Given the description of an element on the screen output the (x, y) to click on. 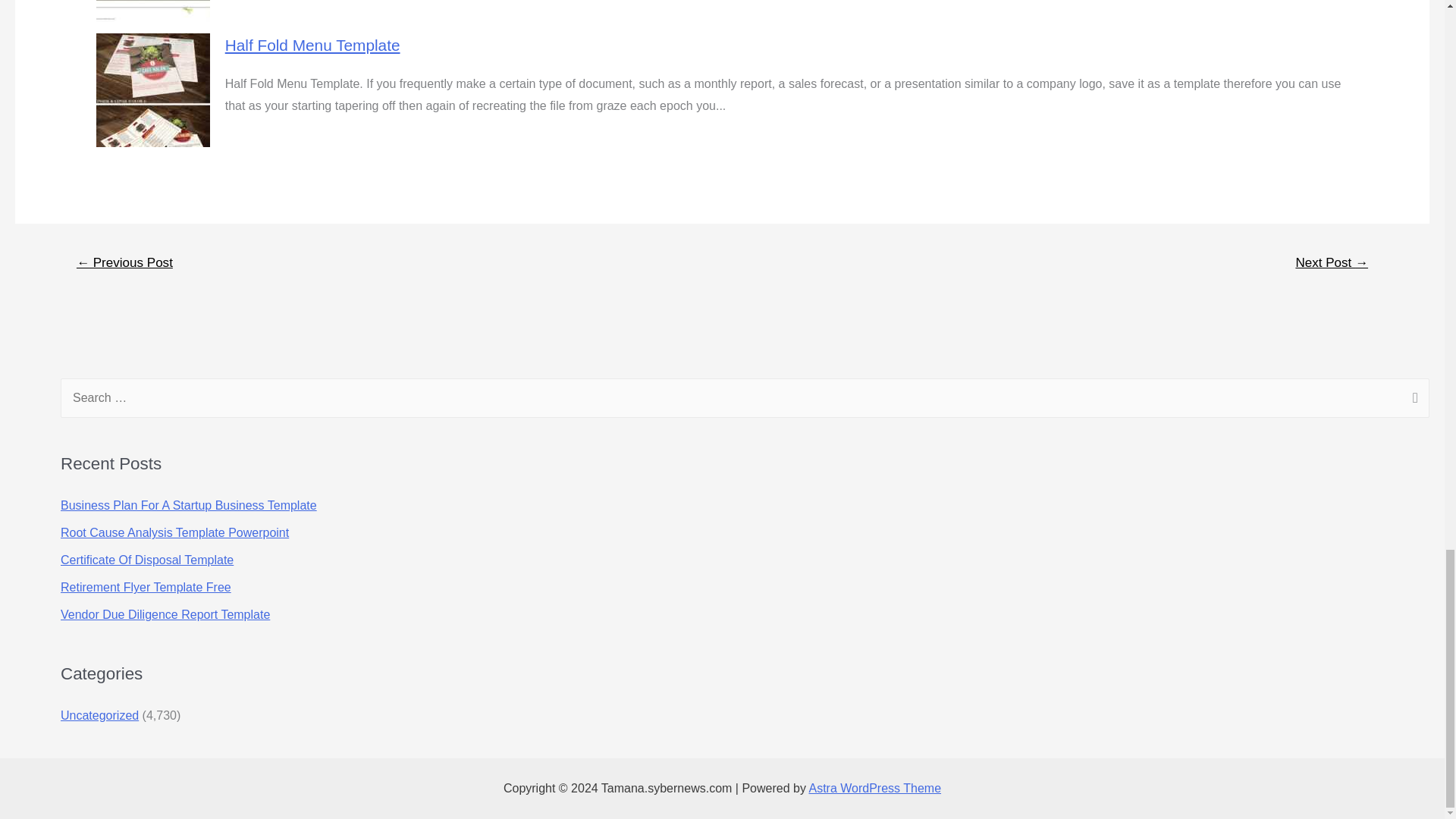
Half Fold Menu Template (312, 45)
Uncategorized (99, 715)
Search (1411, 399)
Business Plan For A Startup Business Template (189, 504)
Vendor Due Diligence Report Template (165, 614)
Search (1411, 399)
Search (1411, 399)
Astra WordPress Theme (874, 788)
Root Cause Analysis Template Powerpoint (174, 532)
Retirement Flyer Template Free (146, 586)
Certificate Of Disposal Template (146, 559)
